Given the description of an element on the screen output the (x, y) to click on. 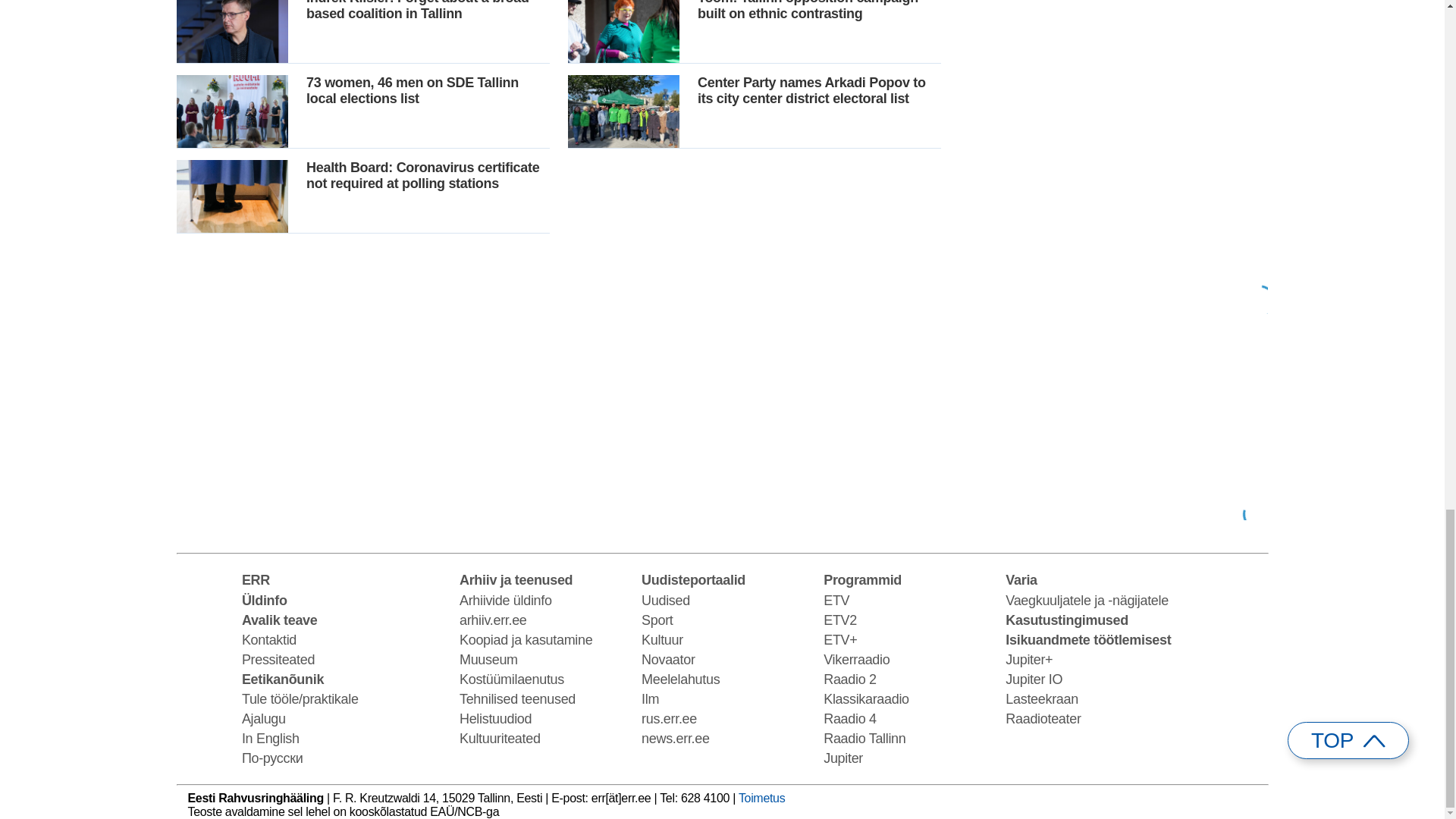
ENG: Local elections (1112, 156)
ENG: local elections (1112, 418)
